Given the description of an element on the screen output the (x, y) to click on. 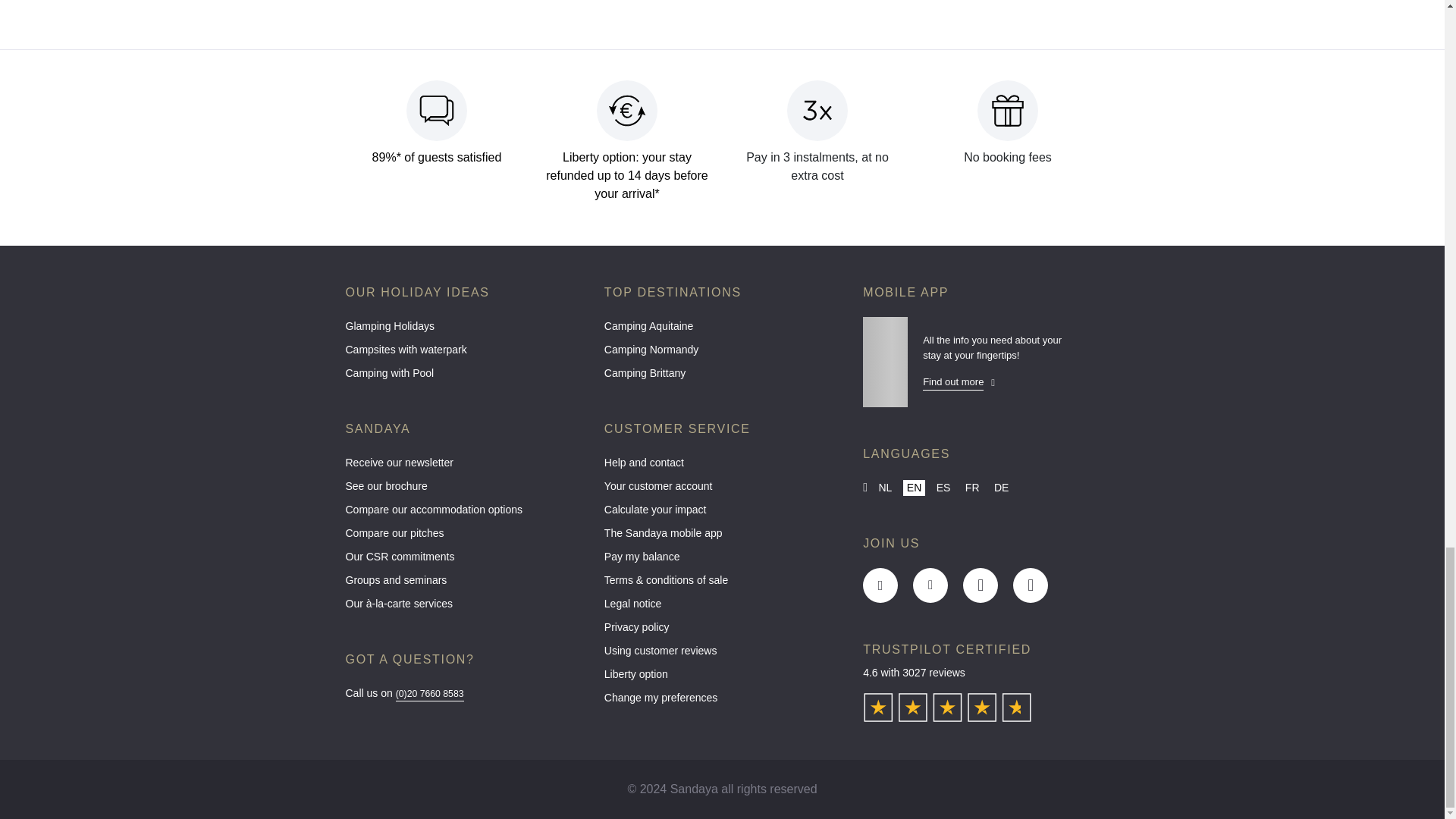
Calculate your impact (722, 513)
Compare our pitches (463, 536)
Camping with Pool (463, 377)
Glamping Holidays (463, 330)
Privacy policy (722, 630)
Legal notice (722, 607)
Your customer account (722, 490)
See our brochure (463, 490)
Compare our accommodation options (463, 513)
Help and contact (722, 466)
